Given the description of an element on the screen output the (x, y) to click on. 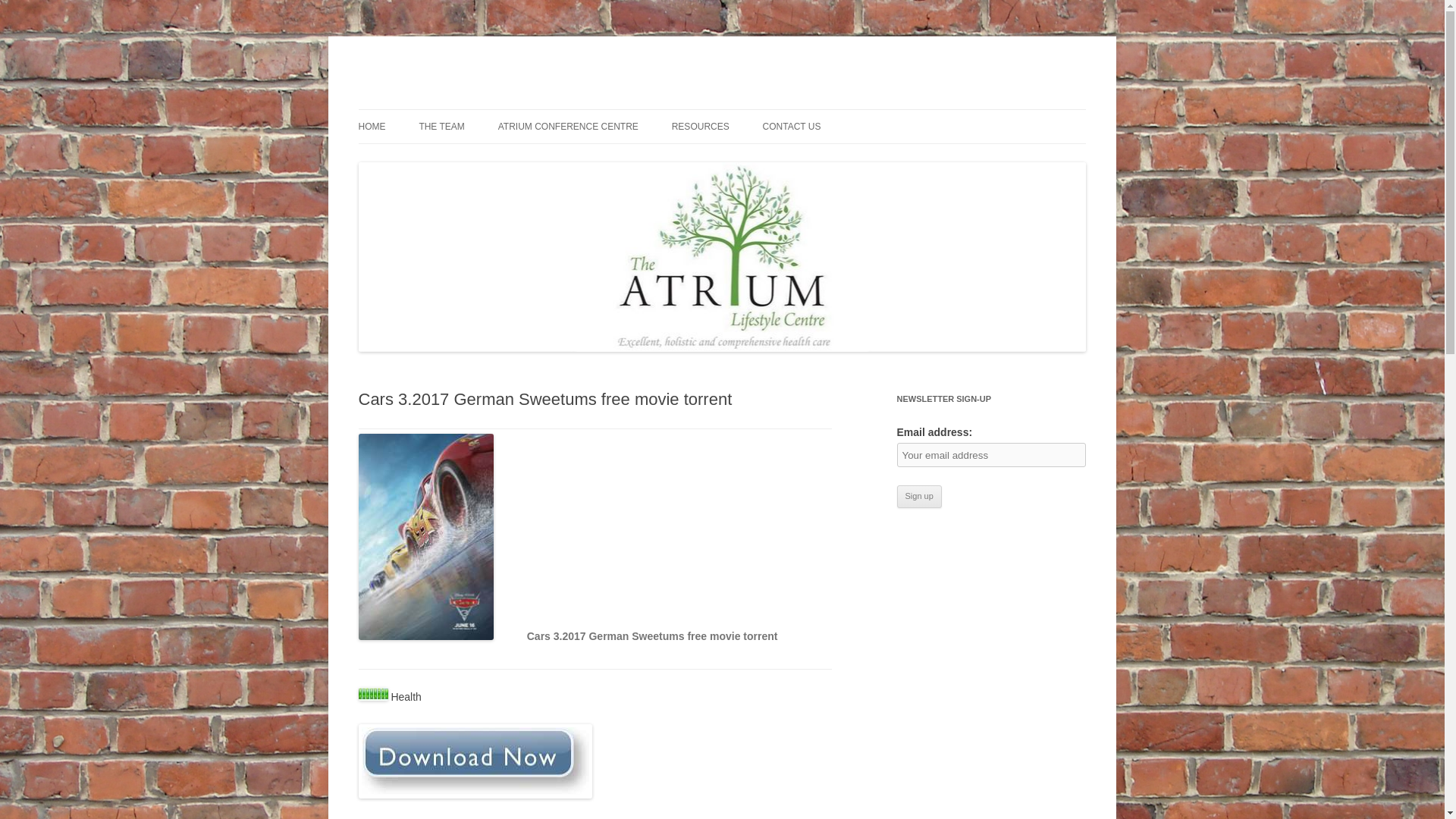
Sign up (918, 496)
CONTACT US (791, 126)
RESOURCES (700, 126)
Sign up (918, 496)
OUR STORY (433, 158)
ATRIUM CONFERENCE CENTRE (568, 126)
THE TEAM (441, 126)
